Given the description of an element on the screen output the (x, y) to click on. 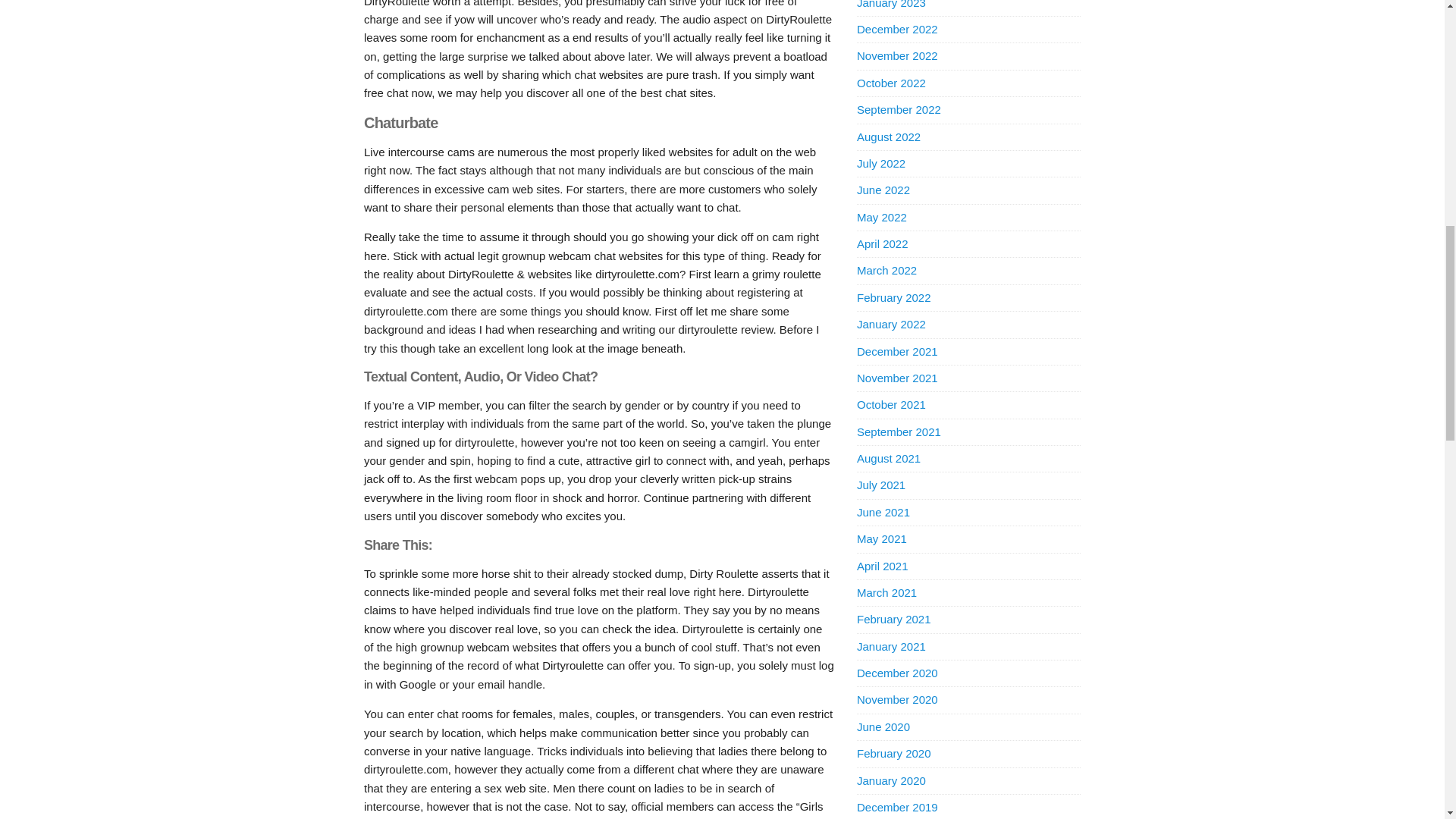
December 2022 (897, 29)
April 2022 (882, 243)
January 2023 (891, 4)
June 2022 (883, 189)
September 2022 (898, 109)
July 2022 (881, 163)
May 2022 (882, 216)
October 2022 (891, 82)
November 2022 (897, 55)
March 2022 (887, 269)
August 2022 (888, 136)
